Given the description of an element on the screen output the (x, y) to click on. 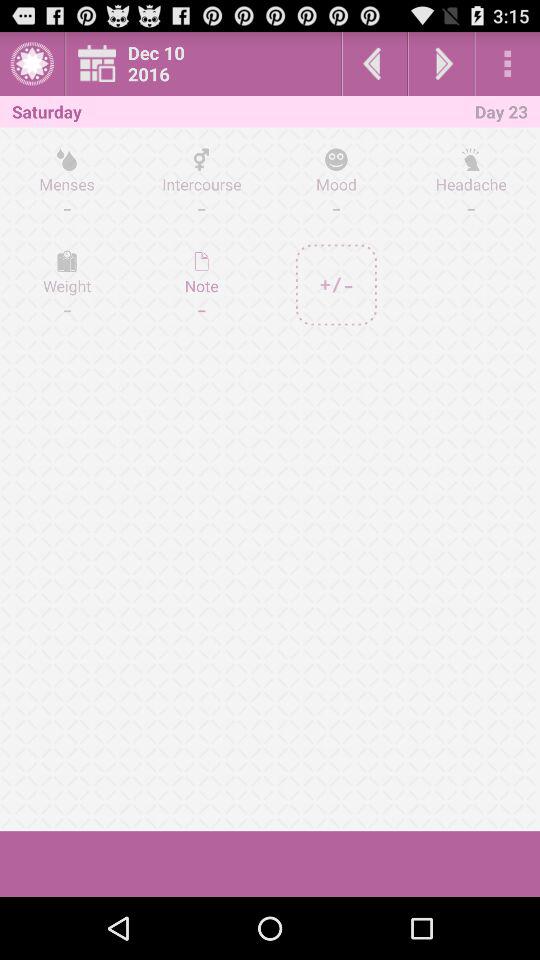
swipe until the weight
_ item (67, 284)
